Given the description of an element on the screen output the (x, y) to click on. 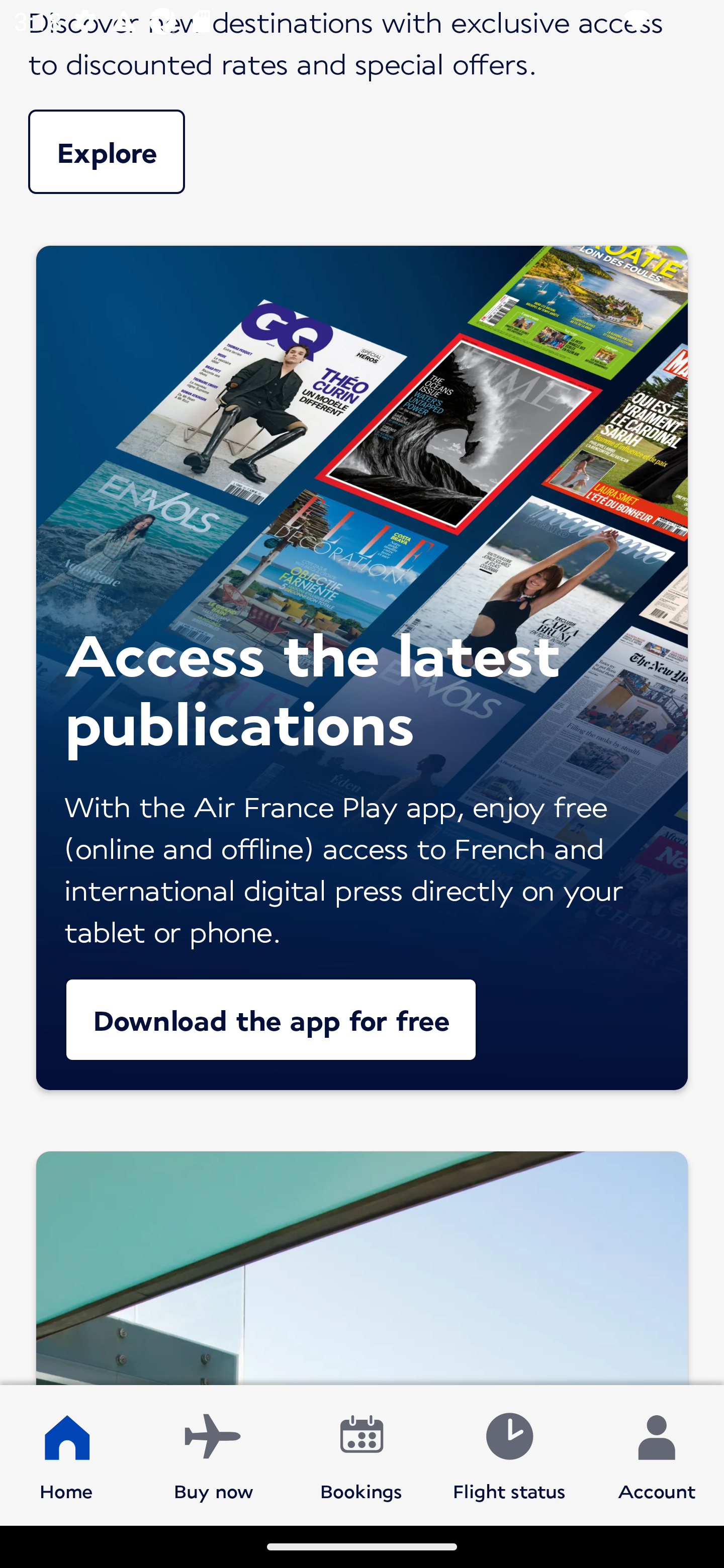
Buy now (213, 1454)
Bookings (361, 1454)
Flight status (509, 1454)
Account (657, 1454)
